Given the description of an element on the screen output the (x, y) to click on. 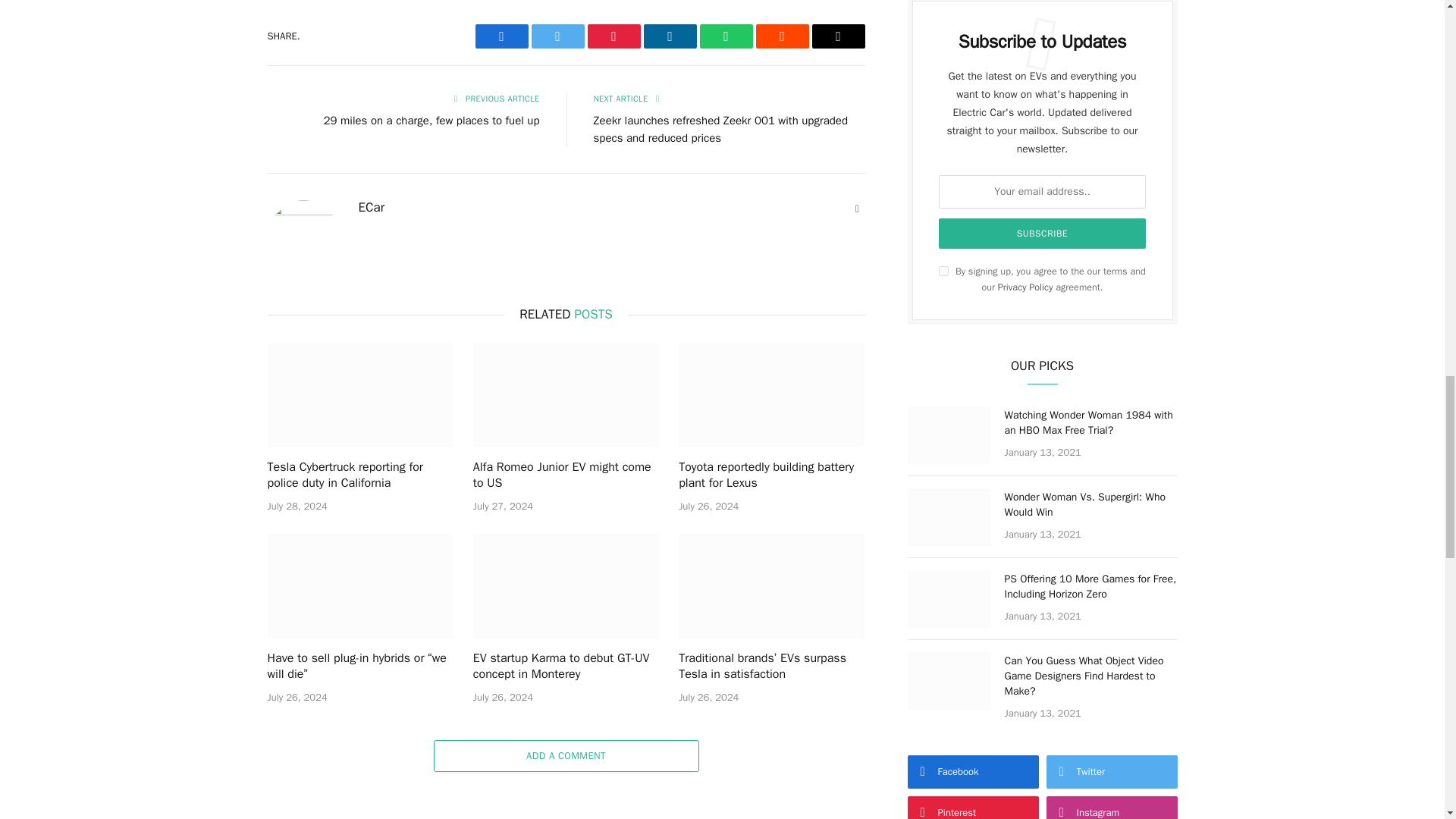
on (944, 271)
Subscribe (1043, 233)
